Given the description of an element on the screen output the (x, y) to click on. 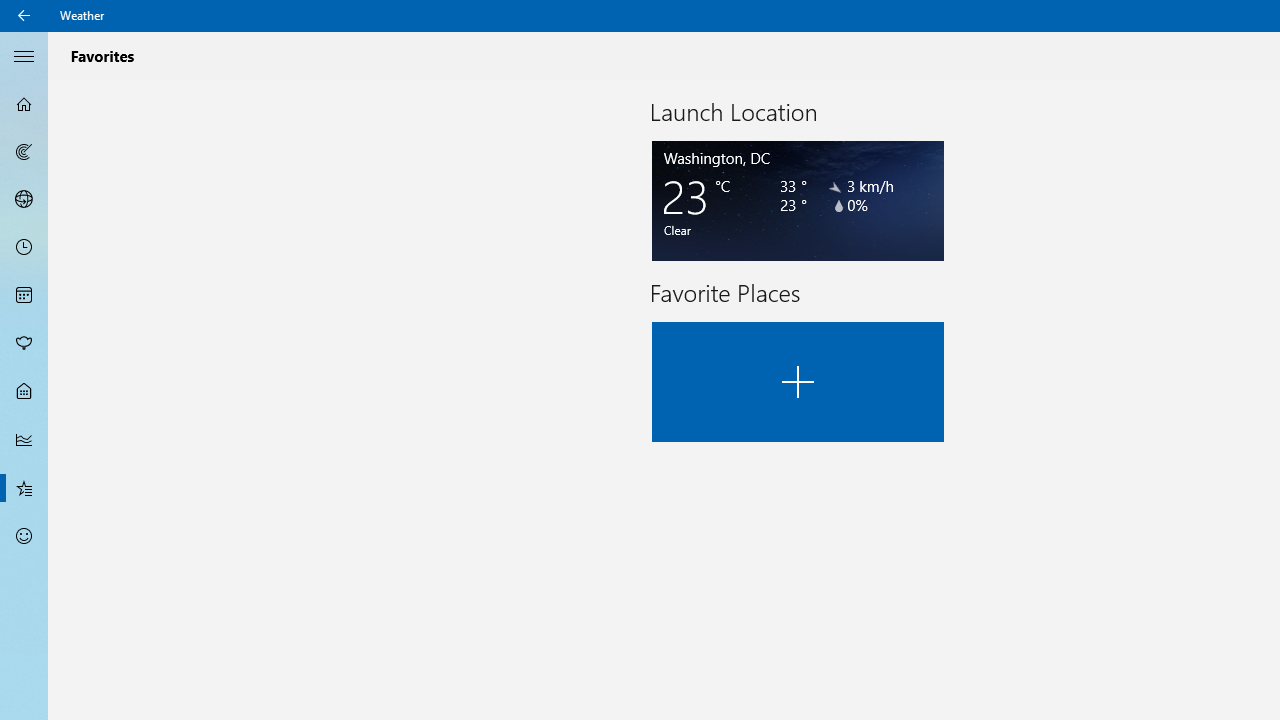
Life - Not Selected (24, 391)
Add to Favorites (797, 381)
Favorites - Not Selected (24, 487)
Hourly Forecast - Not Selected (24, 247)
Life - Not Selected (24, 391)
Forecast - Not Selected (24, 103)
3D Maps - Not Selected (24, 199)
Forecast - Not Selected (24, 103)
Hourly Forecast - Not Selected (24, 247)
